Given the description of an element on the screen output the (x, y) to click on. 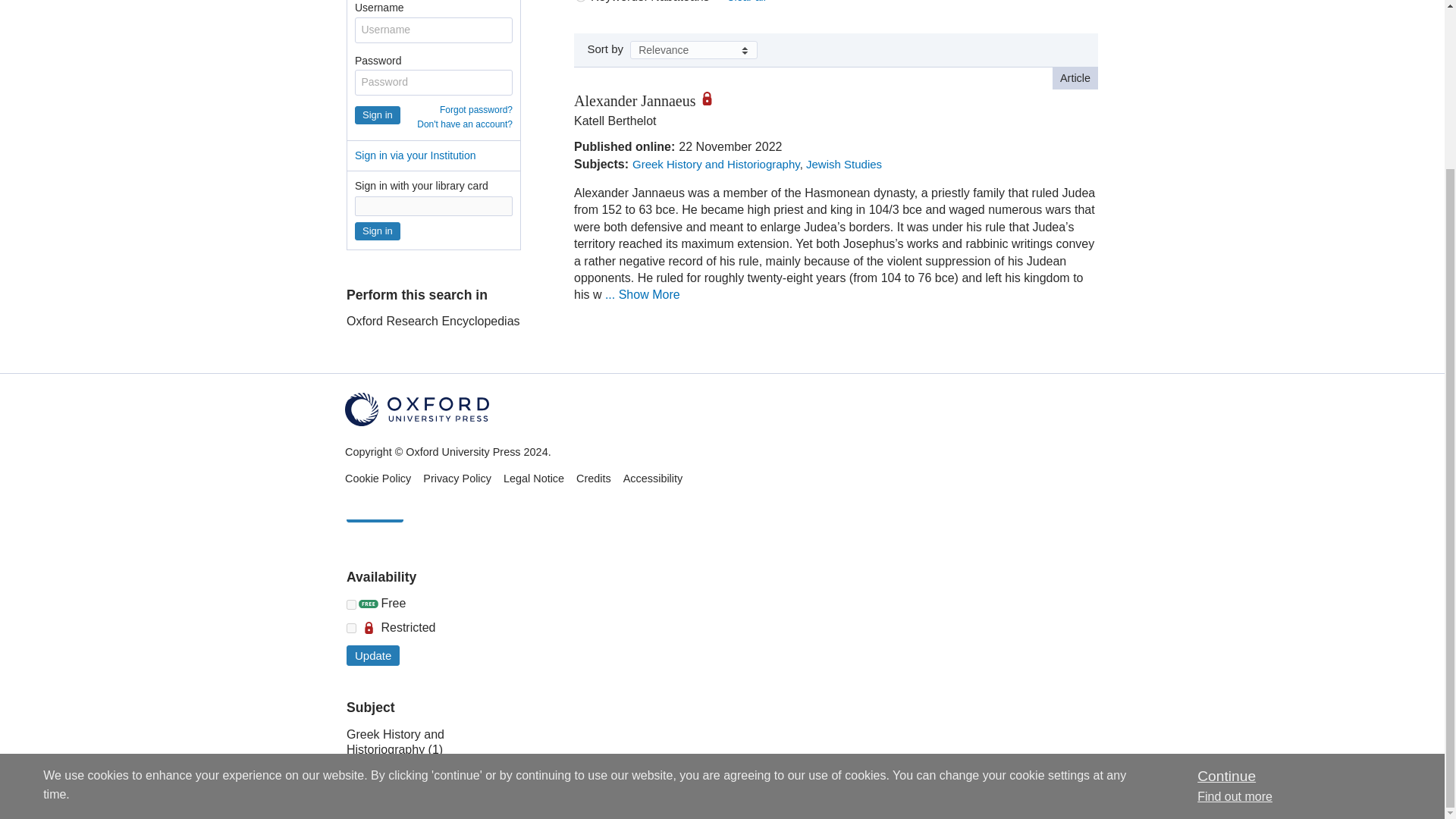
Forgot password? (475, 109)
locked (351, 628)
Sign in (377, 115)
Close this message (1225, 574)
restricted access (711, 98)
Find out more (1234, 594)
Continue (1225, 574)
Nabateans (433, 484)
 Update (374, 512)
Sign in (377, 230)
